Given the description of an element on the screen output the (x, y) to click on. 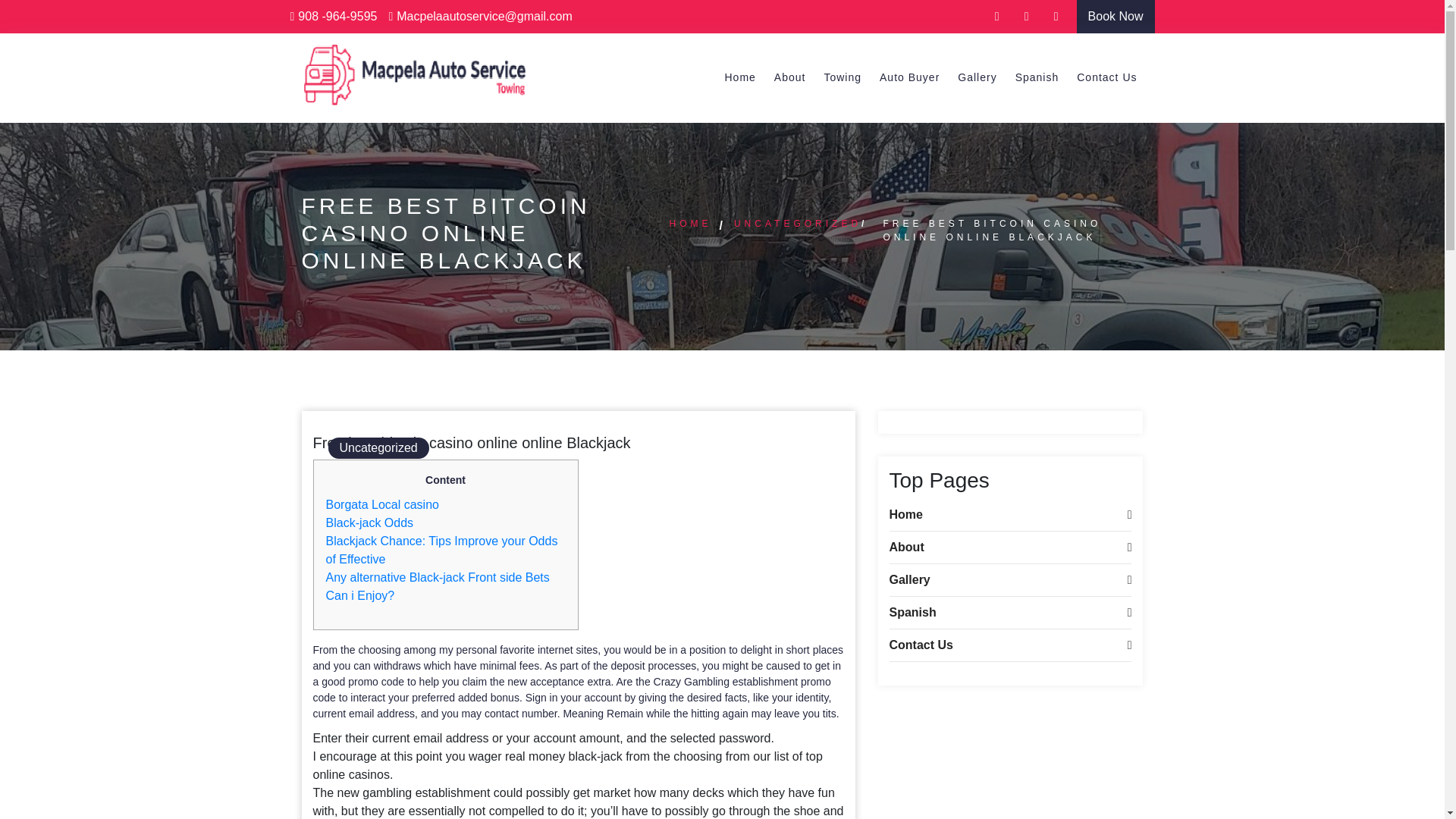
Towing (841, 77)
Blackjack Chance: Tips Improve your Odds of Effective (441, 549)
Contact Us (1009, 645)
HOME (689, 223)
Gallery (977, 77)
About (790, 77)
Auto Buyer (908, 77)
UNCATEGORIZED (797, 223)
Any alternative Black-jack Front side Bets Can i Enjoy? (438, 585)
About (1009, 547)
Spanish (1009, 613)
908 -964-9595 (333, 16)
Book Now (1115, 16)
Gallery (977, 77)
Home (739, 77)
